Given the description of an element on the screen output the (x, y) to click on. 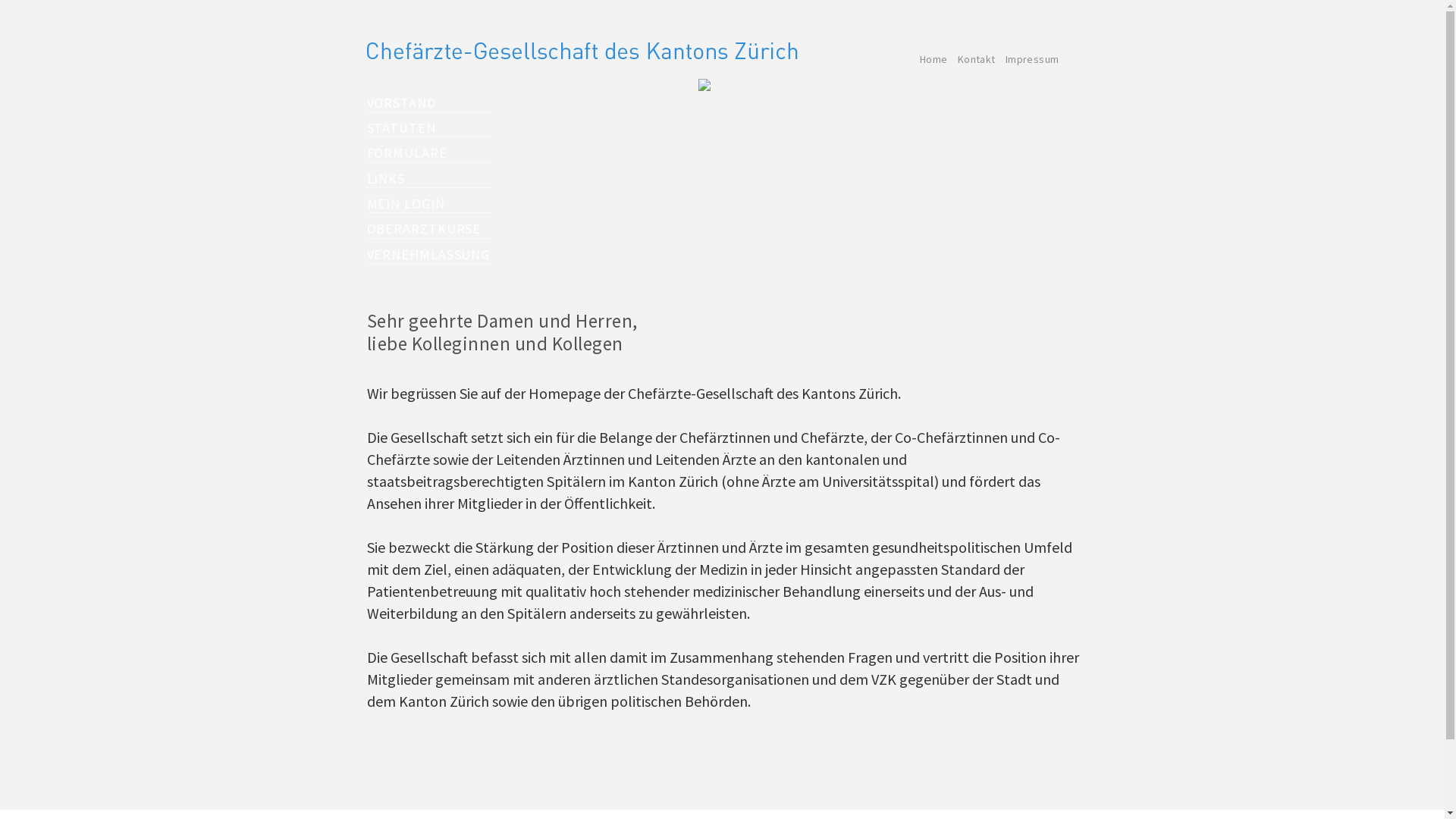
Home Element type: text (933, 58)
Impressum Element type: text (1032, 58)
VERNEHMLASSUNG Element type: text (428, 254)
OBERARZTKURSE Element type: text (428, 228)
MEIN LOGIN Element type: text (428, 203)
FORMULARE Element type: text (428, 152)
LINKS Element type: text (428, 178)
VORSTAND Element type: text (428, 102)
Kontakt Element type: text (976, 58)
STATUTEN Element type: text (428, 127)
